Given the description of an element on the screen output the (x, y) to click on. 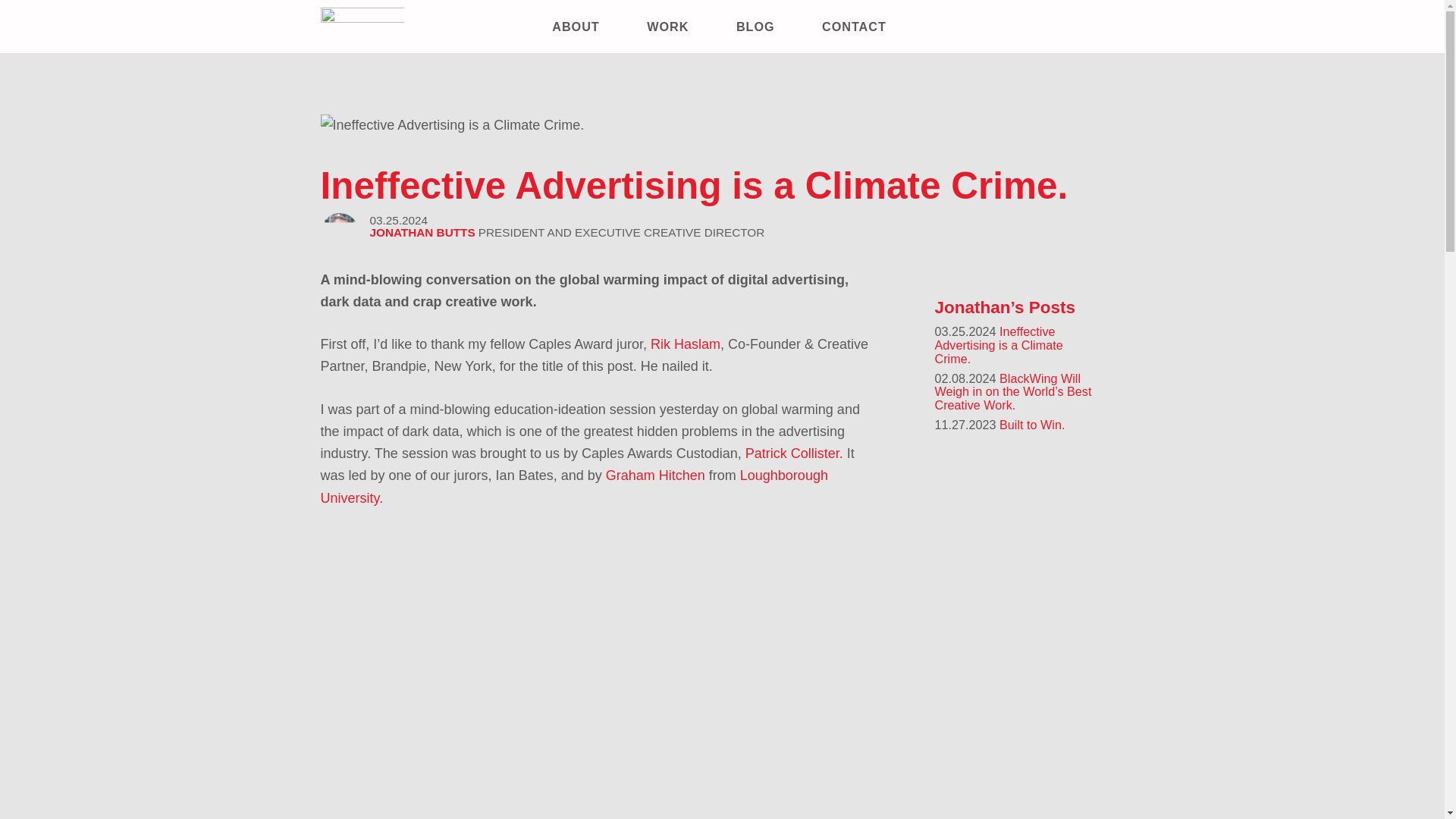
Built to Win. (1031, 424)
Rik Haslam (685, 344)
Ineffective Advertising is a Climate Crime. (451, 125)
Loughborough University (573, 486)
WORK (667, 26)
Ineffective Advertising is a Climate Crime. (998, 344)
BLOG (755, 26)
ABOUT (576, 26)
CONTACT (852, 26)
Graham Hitchen (654, 475)
